Given the description of an element on the screen output the (x, y) to click on. 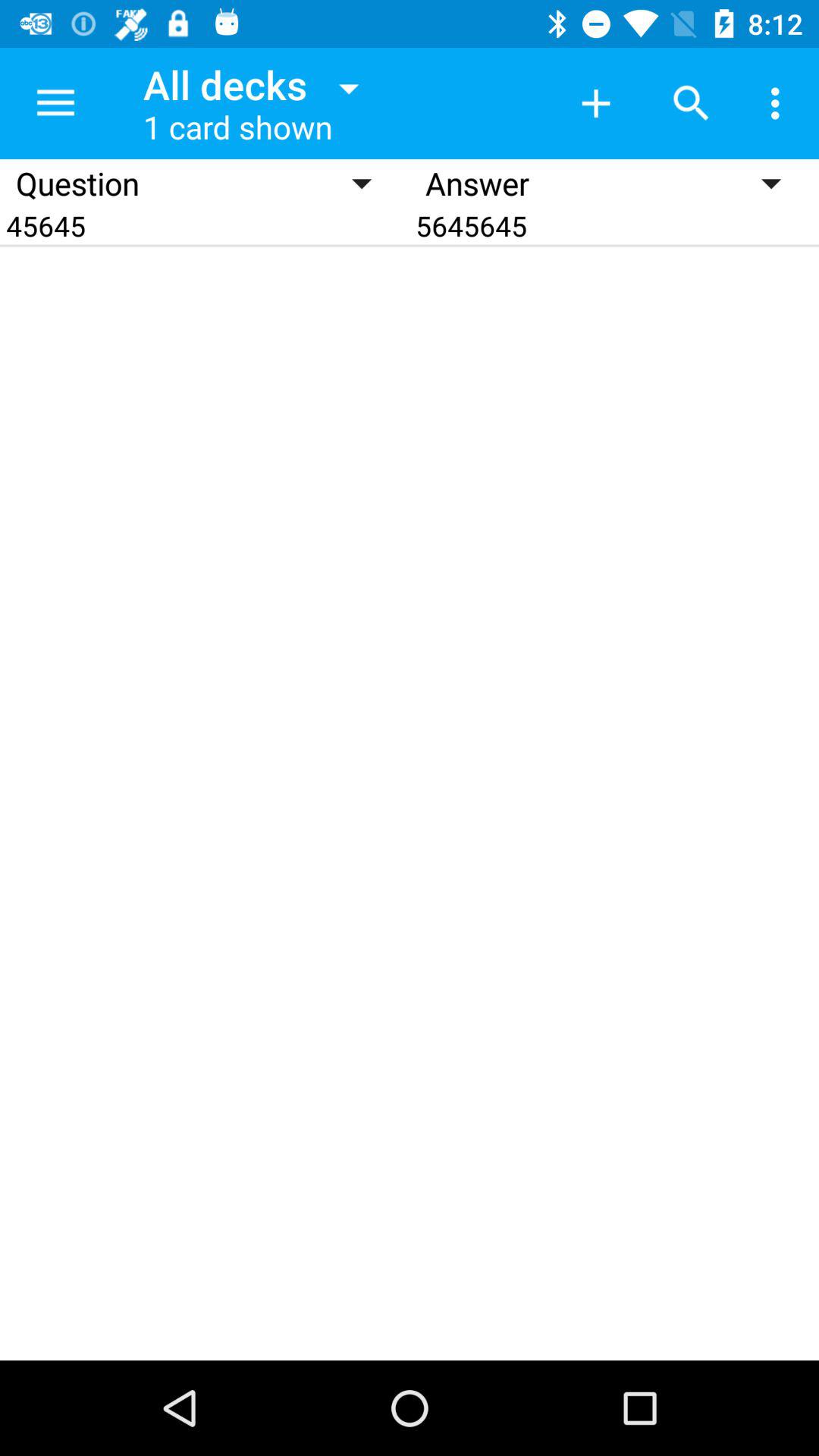
turn off the 5645645 item (614, 225)
